Given the description of an element on the screen output the (x, y) to click on. 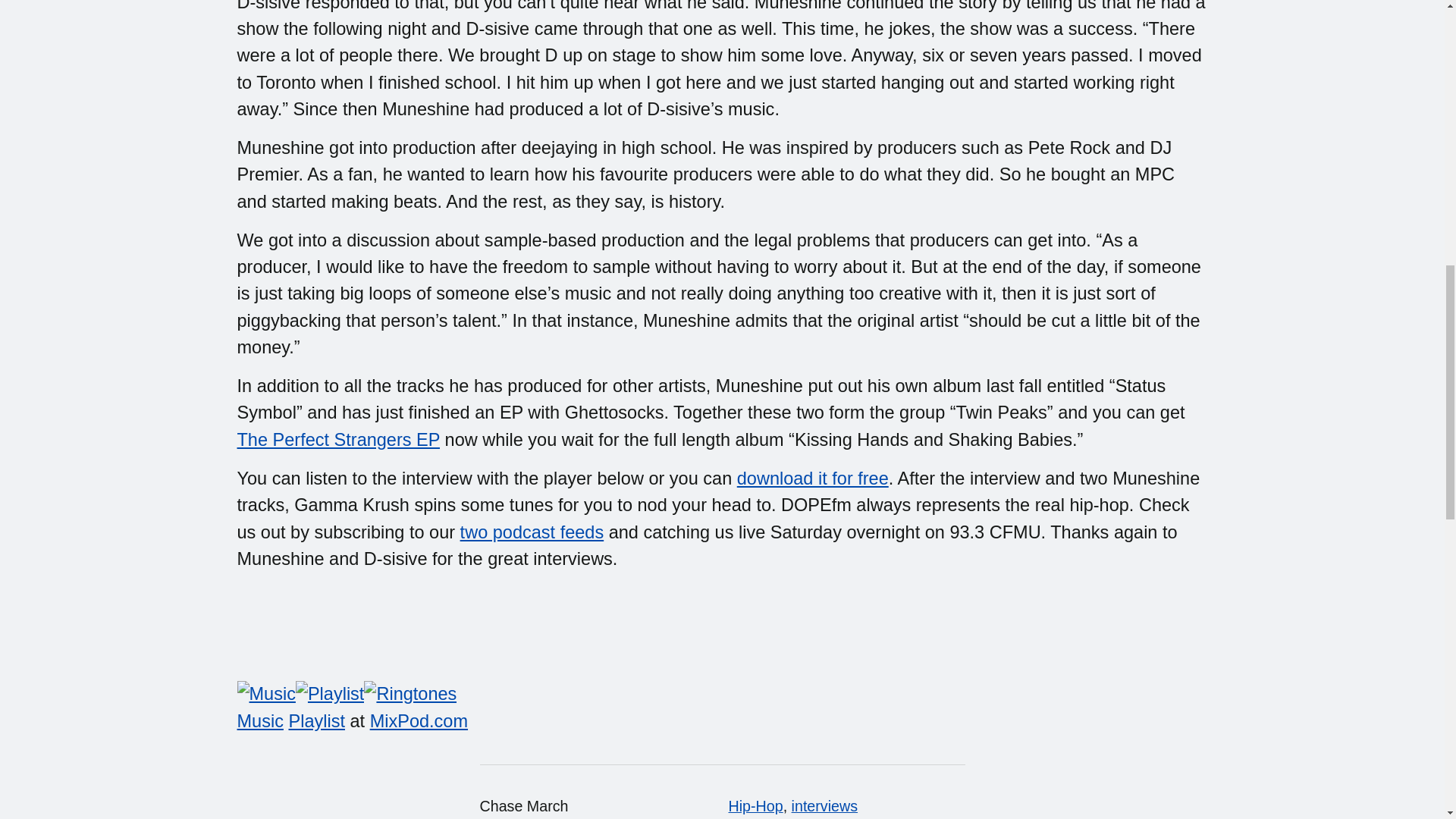
Get Ringtones From This Playlist! (410, 693)
two podcast feeds (532, 532)
Music (258, 721)
Playlist (316, 721)
Hip-Hop (755, 805)
Create Your Free Playlist! (330, 693)
Get Music Tracks! (265, 693)
interviews (824, 805)
download it for free (812, 478)
MixPod.com (418, 721)
